Given the description of an element on the screen output the (x, y) to click on. 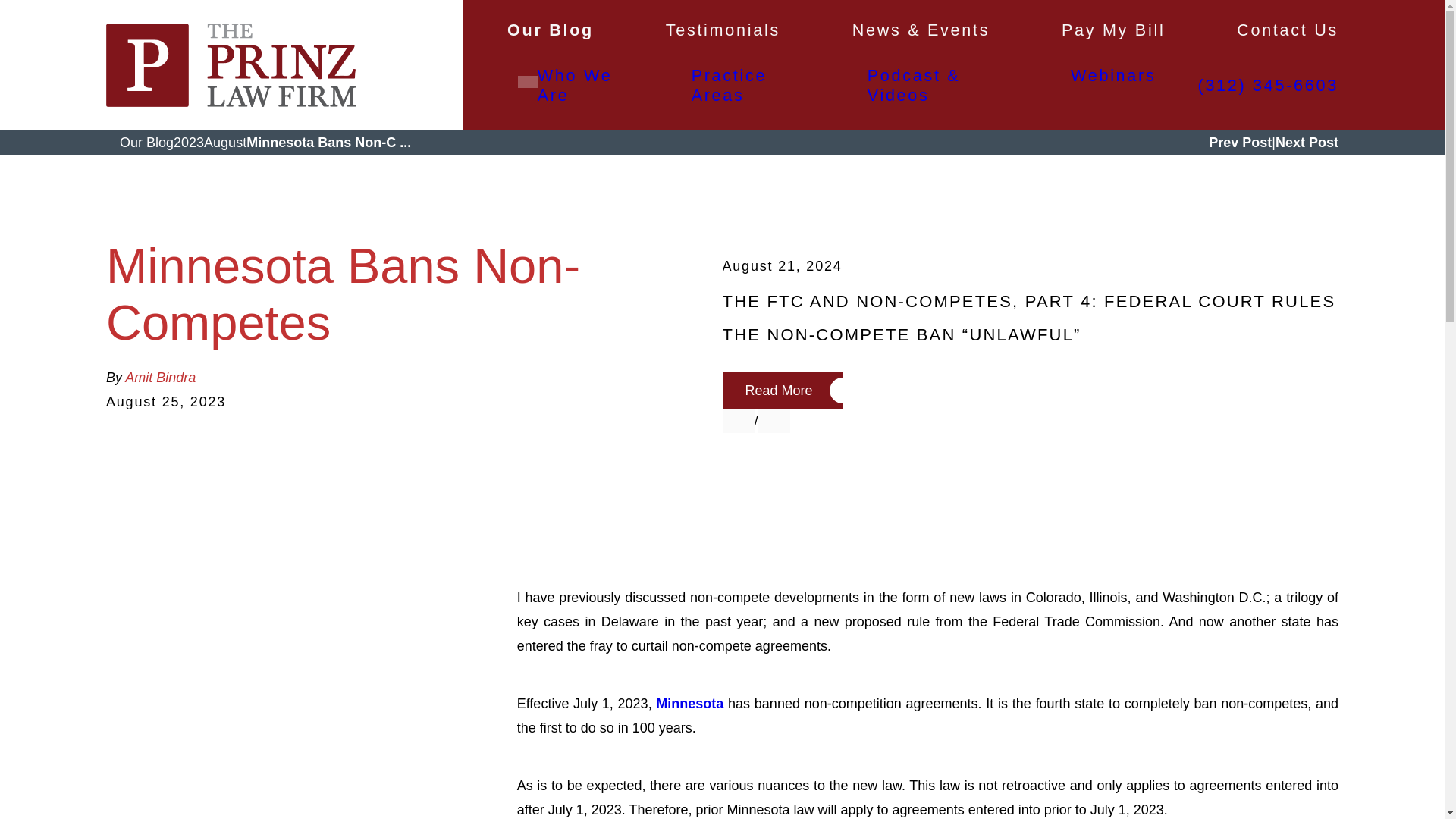
View previous item (738, 420)
Our Blog (550, 34)
Practice Areas (750, 85)
Search Icon (510, 81)
Search Our Site (510, 81)
Testimonials (722, 34)
Pay My Bill (1113, 34)
Close the Menu (527, 81)
Who We Are (588, 85)
The Prinz Law Firm (231, 64)
